Given the description of an element on the screen output the (x, y) to click on. 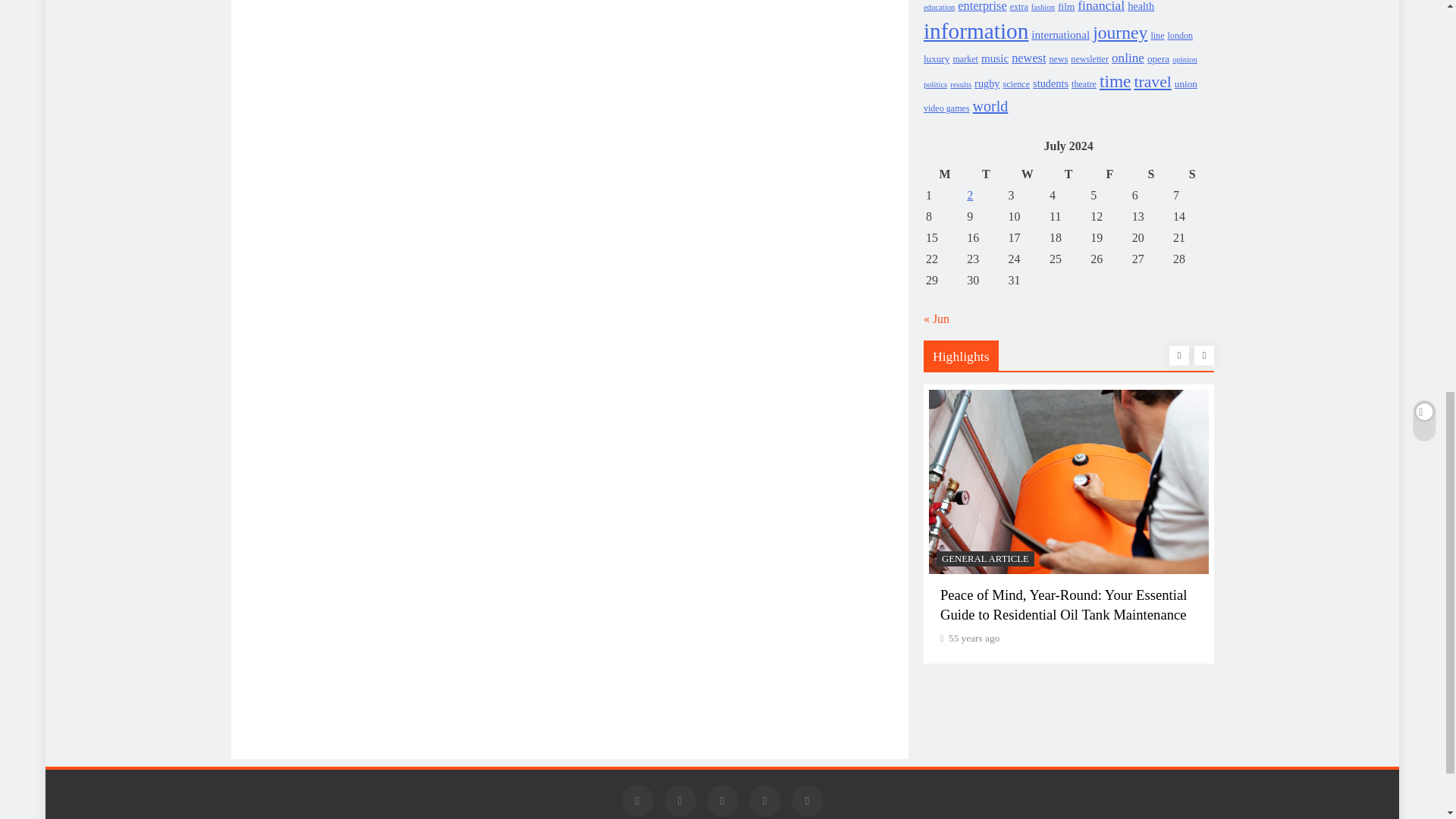
Saturday (1150, 174)
Wednesday (1026, 174)
Sunday (1191, 174)
Monday (943, 174)
Friday (1109, 174)
Thursday (1067, 174)
Tuesday (986, 174)
